Given the description of an element on the screen output the (x, y) to click on. 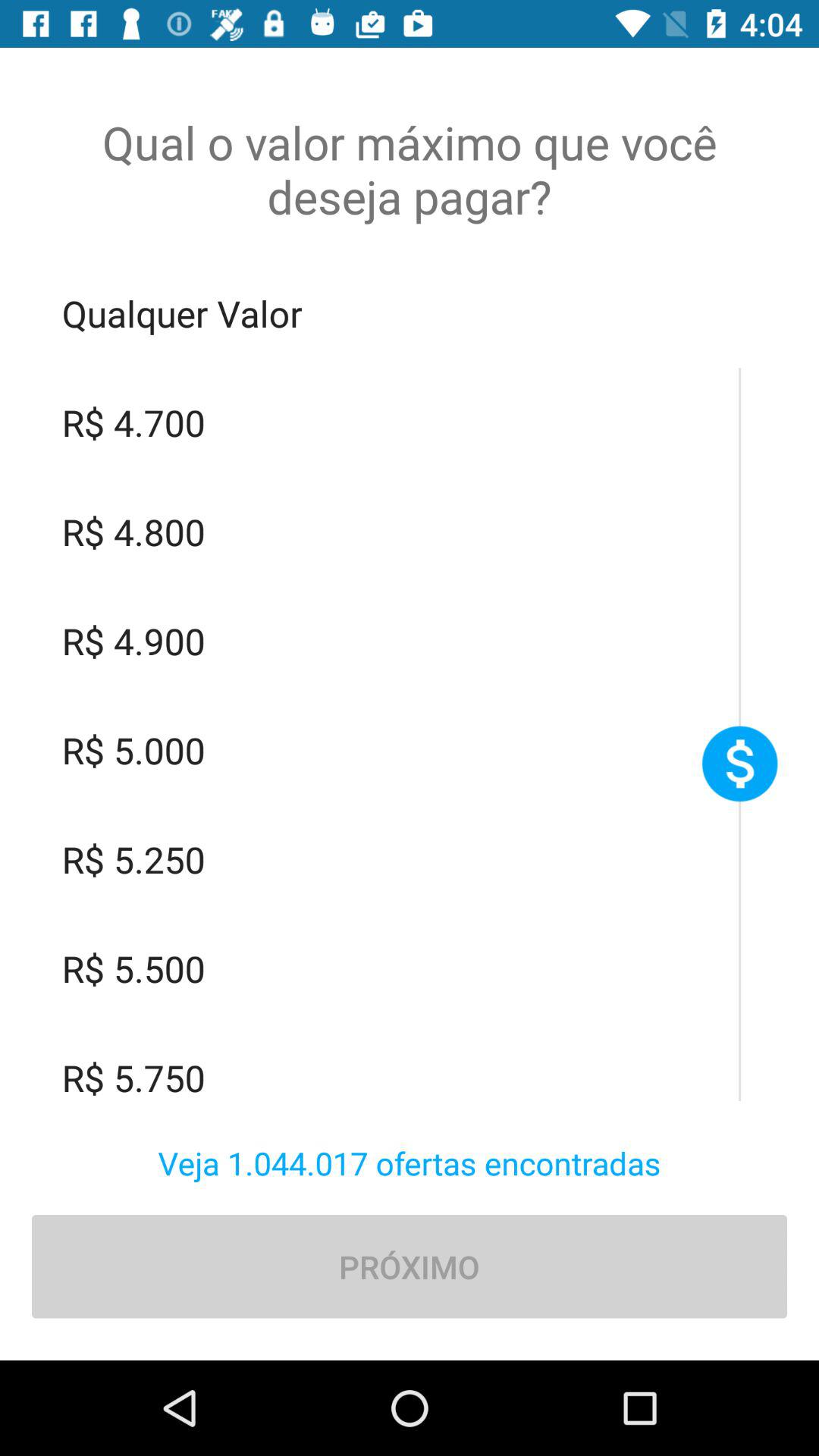
turn off qualquer valor item (409, 312)
